Given the description of an element on the screen output the (x, y) to click on. 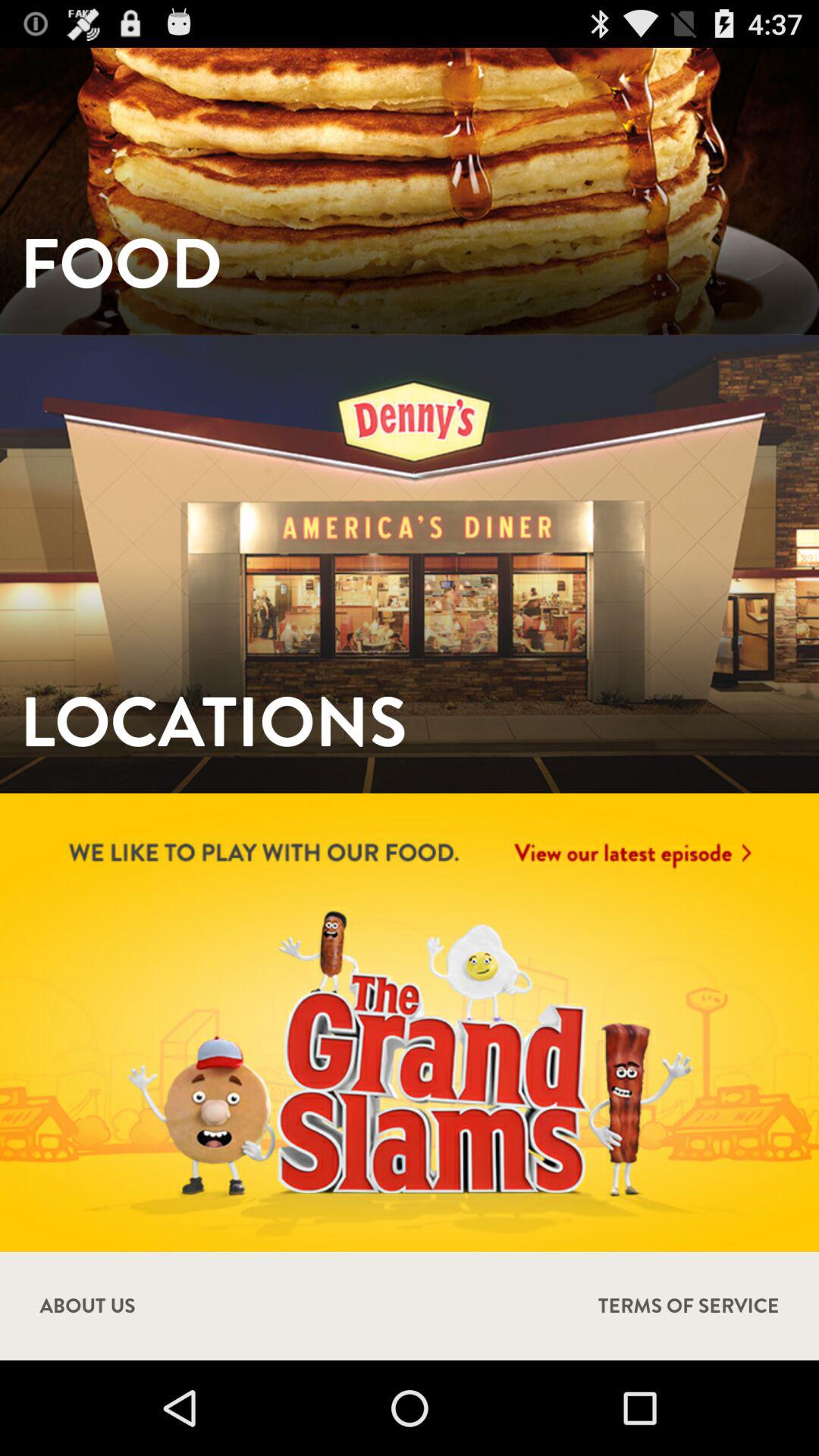
open the terms of service (688, 1305)
